Given the description of an element on the screen output the (x, y) to click on. 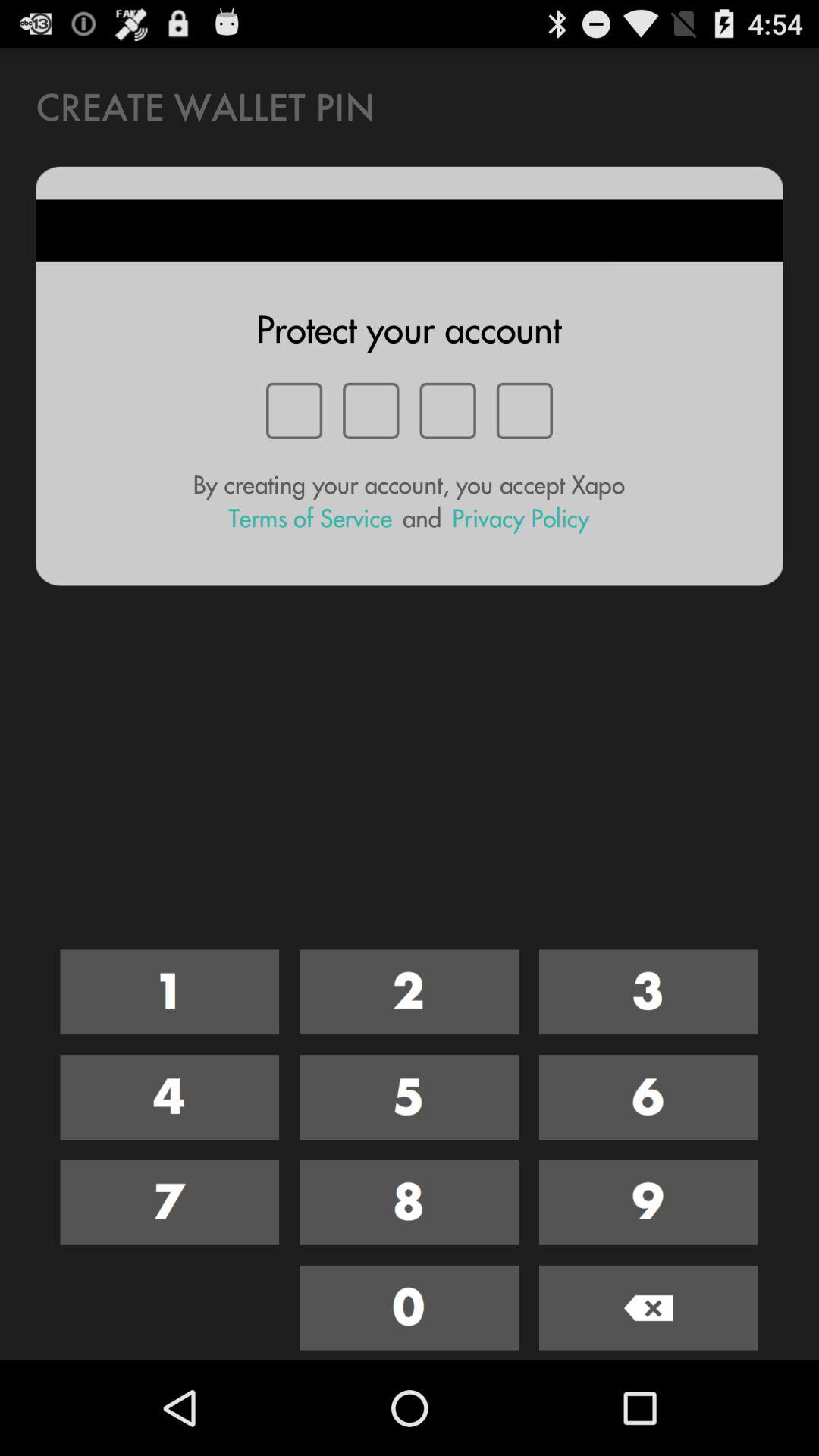
seven (169, 1202)
